Given the description of an element on the screen output the (x, y) to click on. 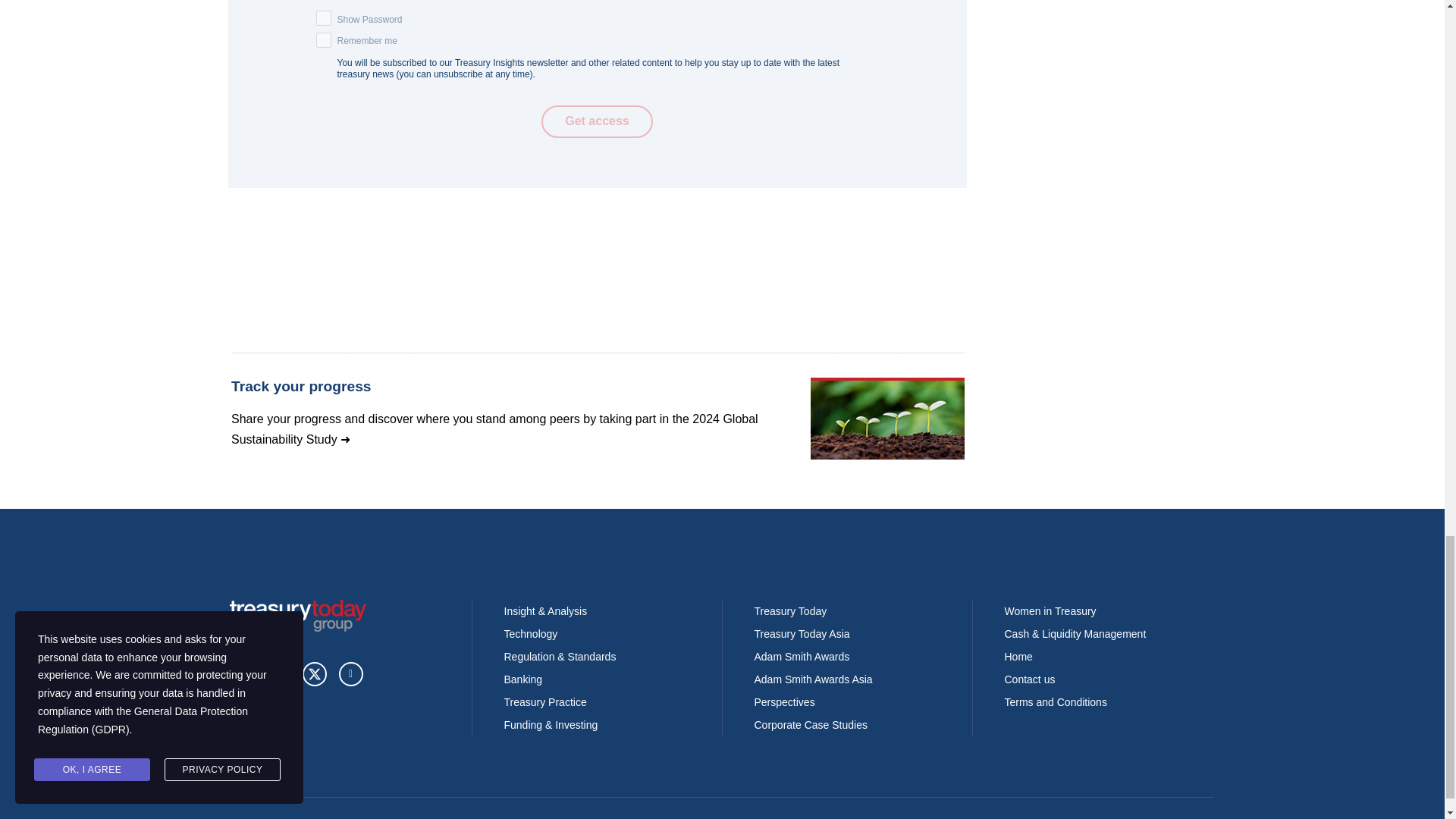
on (322, 17)
on (322, 39)
3rd party ad content (596, 409)
